Given the description of an element on the screen output the (x, y) to click on. 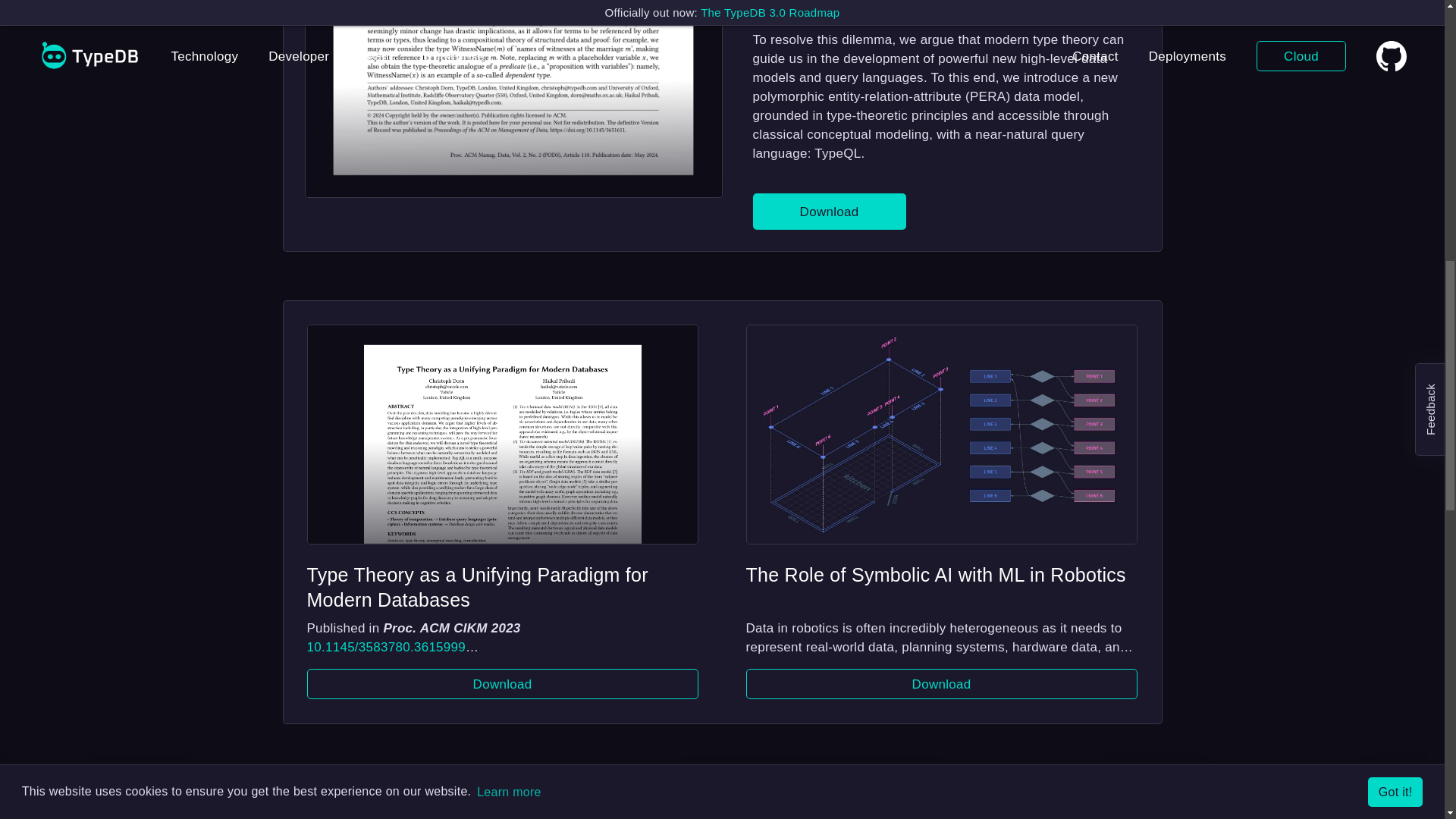
Download (828, 211)
Download (501, 684)
Download (941, 684)
